Given the description of an element on the screen output the (x, y) to click on. 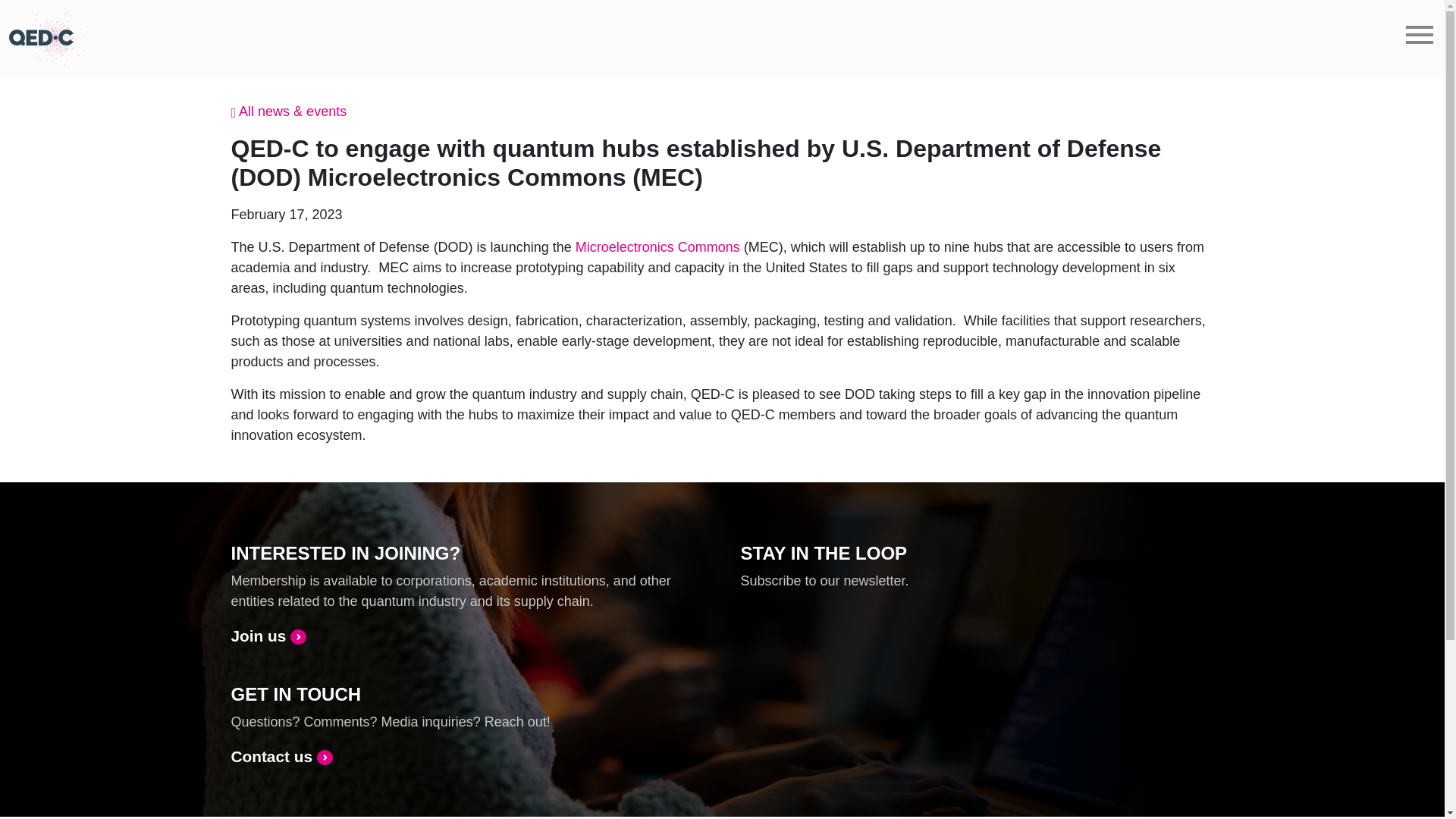
Contact us (280, 755)
Microelectronics Commons (657, 246)
Join us (267, 635)
